Given the description of an element on the screen output the (x, y) to click on. 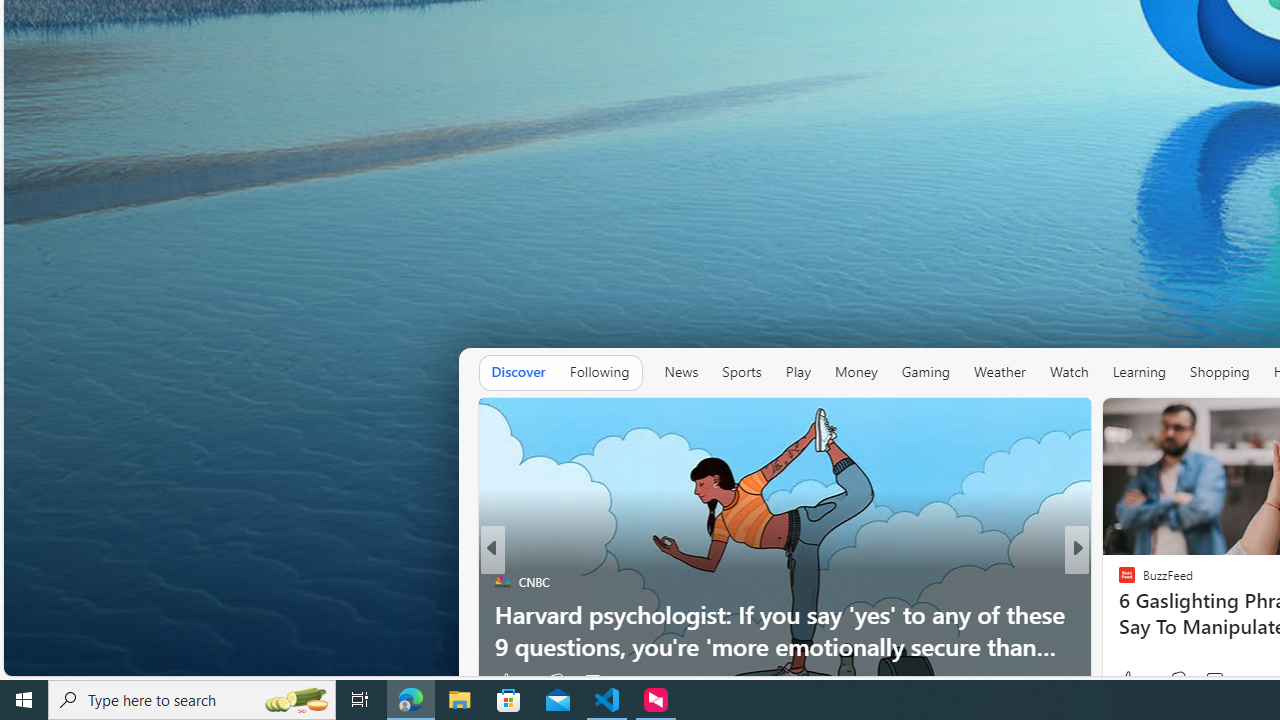
3k Like (1128, 681)
Business Insider (1117, 581)
View comments 139 Comment (1226, 680)
